Given the description of an element on the screen output the (x, y) to click on. 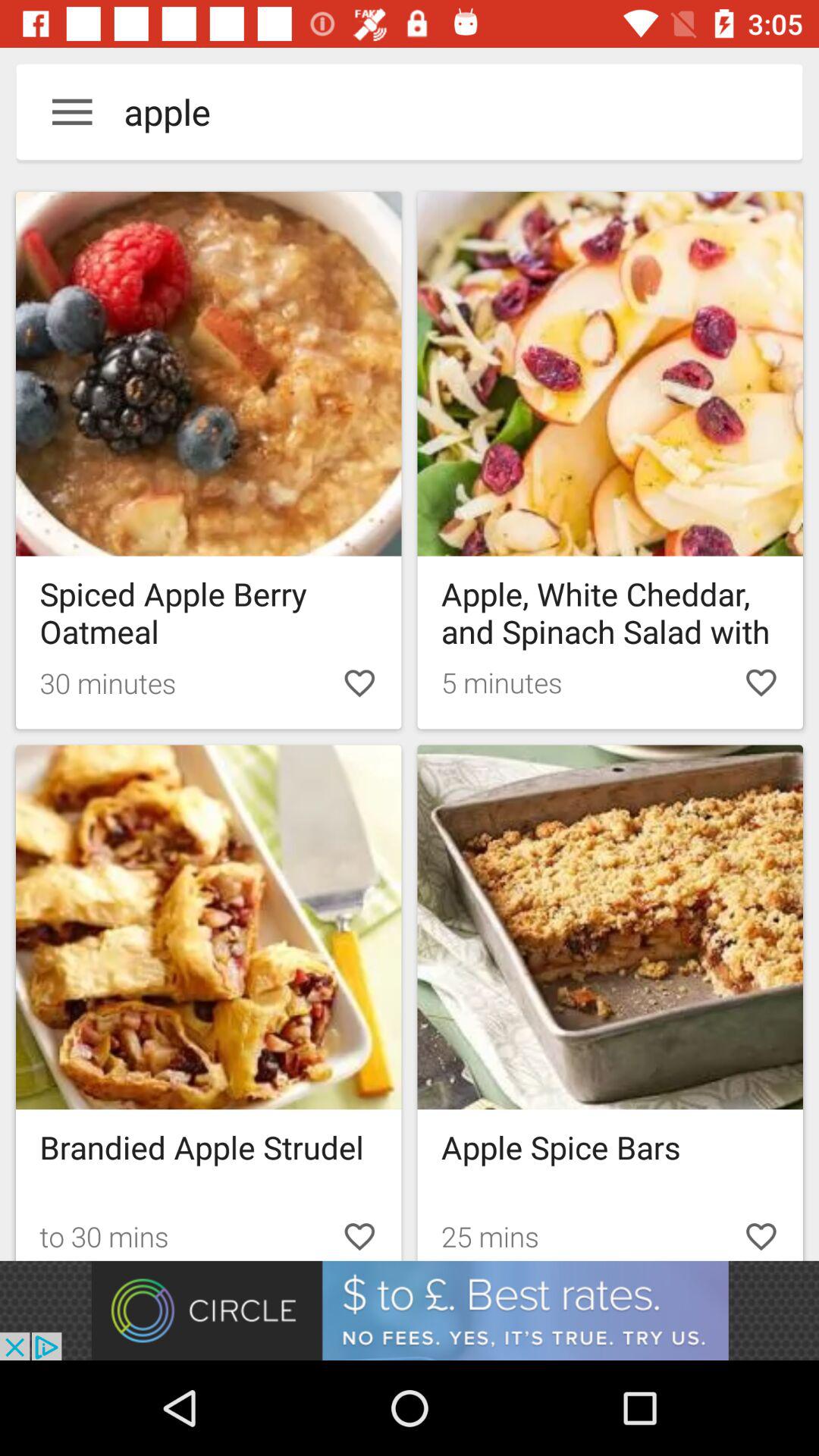
select the image which is on the top left corner of the screen (208, 374)
select first image below apple (208, 460)
choose fourth image (610, 927)
click on fourth heart symbol from top and next to grey colour text 25 mins (760, 1233)
click on menu button (72, 111)
go to first image of like option (359, 682)
click on heart icon in third image (359, 1233)
